Given the description of an element on the screen output the (x, y) to click on. 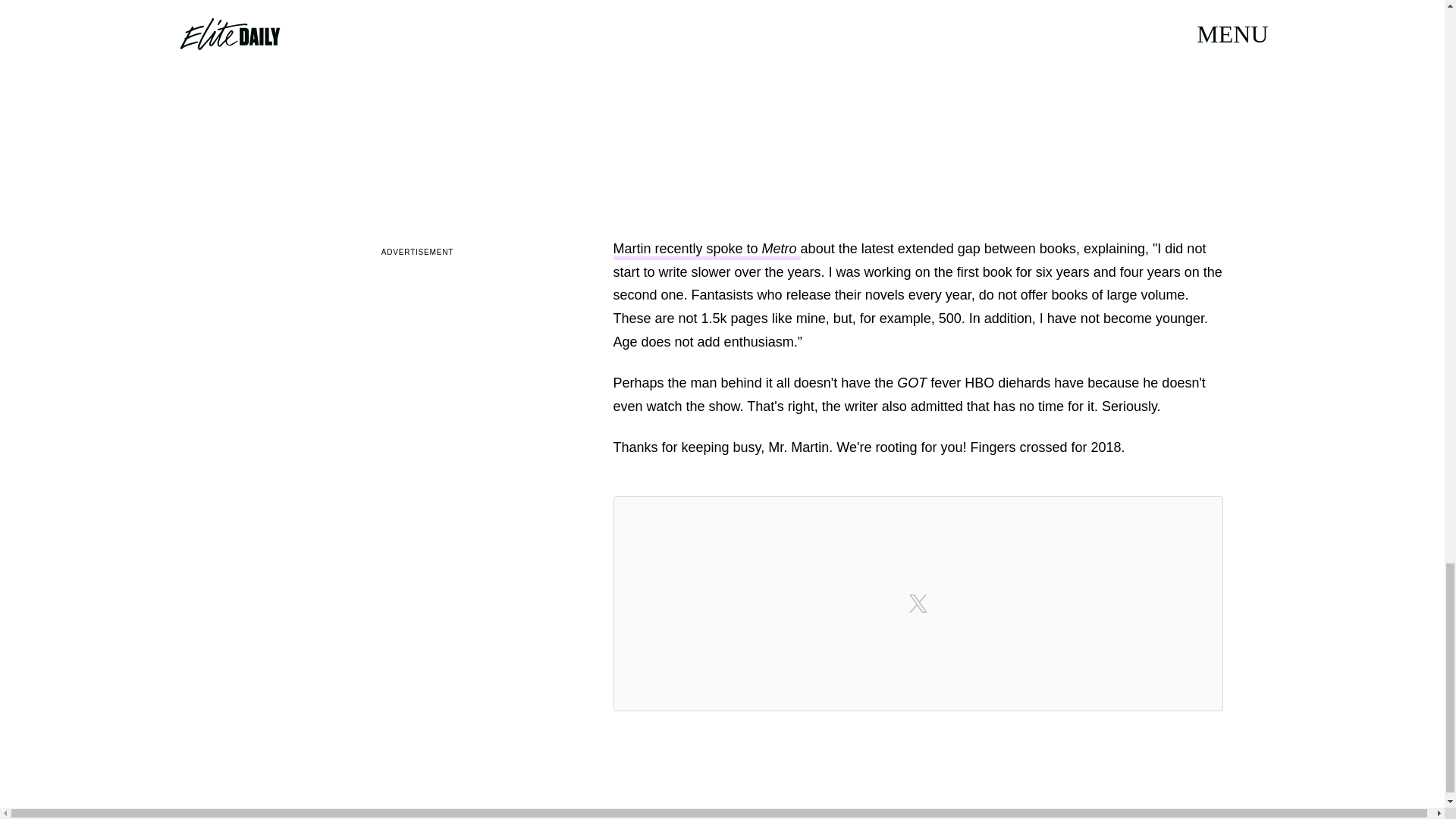
Martin recently spoke to  (686, 250)
Metro (780, 250)
